Given the description of an element on the screen output the (x, y) to click on. 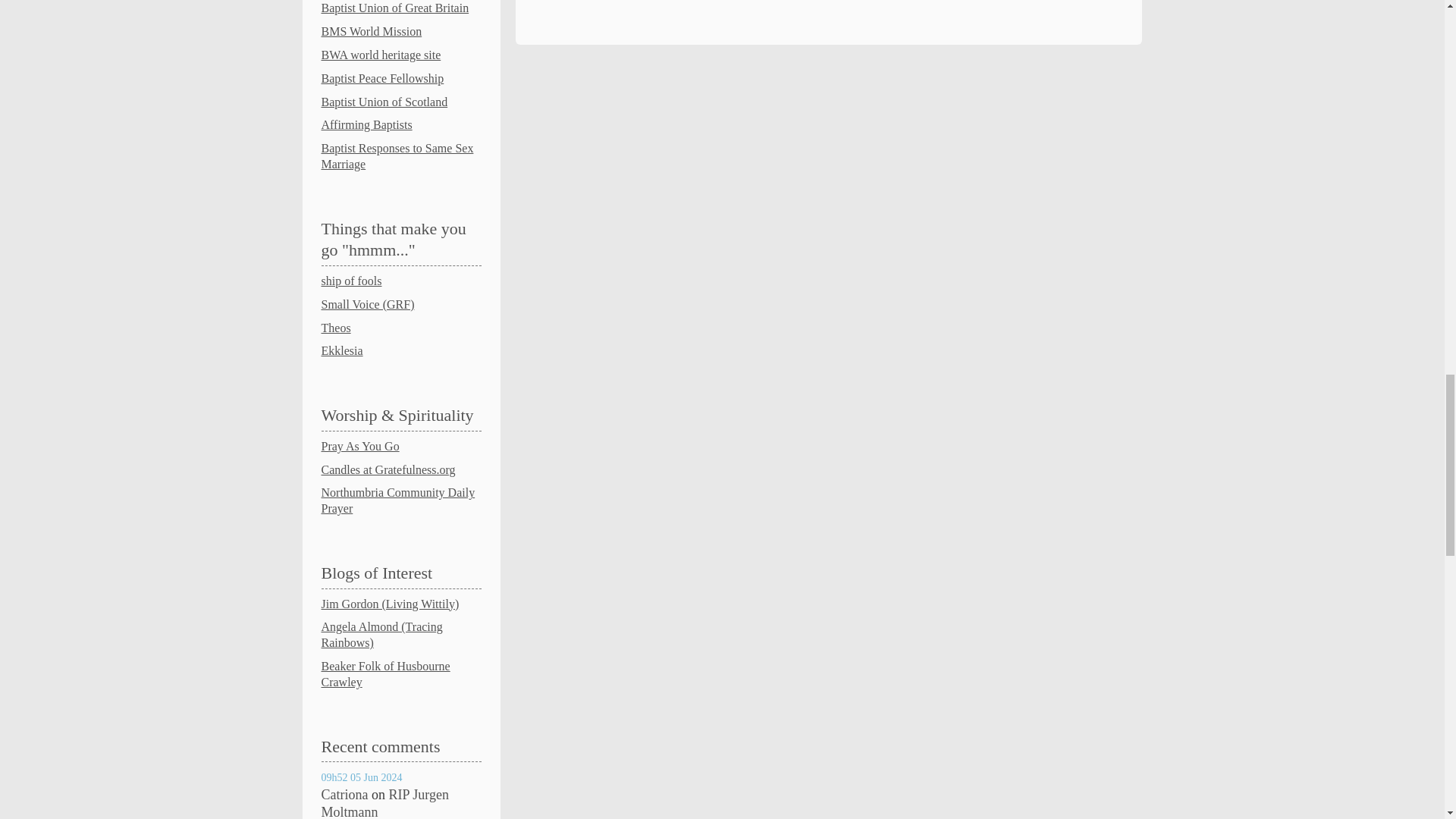
Baptist Peace Fellowship (382, 78)
Northumbria Community Daily Prayer (398, 500)
BMS World Mission (371, 31)
Candles at Gratefulness.org (388, 469)
Baptist Union of Scotland (384, 101)
Theos (335, 327)
BWA world heritage site (381, 54)
Affirming Baptists (366, 124)
Baptist Responses to Same Sex Marriage (397, 155)
Baptist Union of Great Britain (394, 7)
Catriona (344, 794)
ship of fools (351, 280)
RIP Jurgen Moltmann (385, 803)
Ekklesia (341, 350)
Pray As You Go (359, 445)
